Given the description of an element on the screen output the (x, y) to click on. 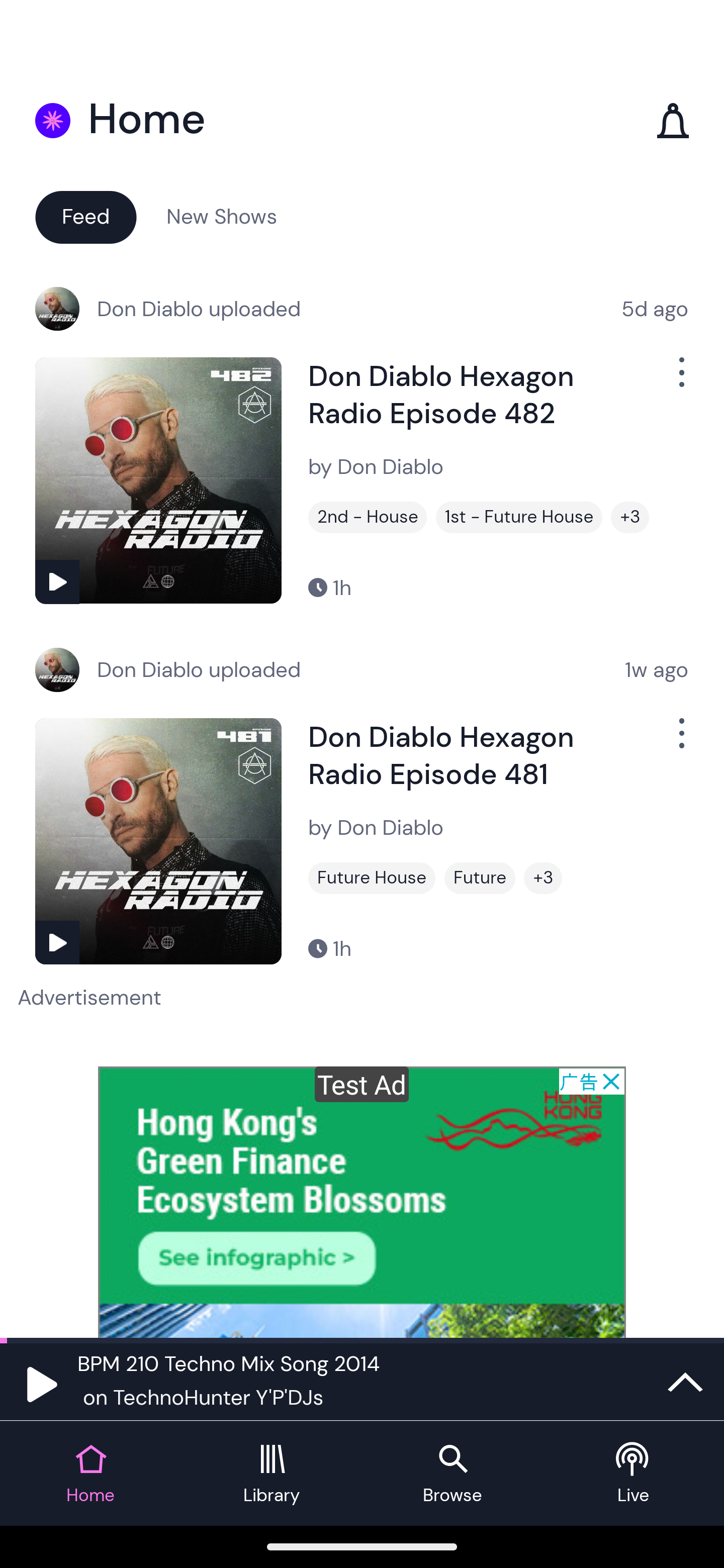
Feed (85, 216)
New Shows (221, 216)
Show Options Menu Button (679, 379)
2nd - House (367, 517)
1st - Future House (518, 517)
Show Options Menu Button (679, 740)
Future House (371, 877)
Future (479, 877)
Advertisement (361, 1201)
Home tab Home (90, 1473)
Library tab Library (271, 1473)
Browse tab Browse (452, 1473)
Live tab Live (633, 1473)
